Given the description of an element on the screen output the (x, y) to click on. 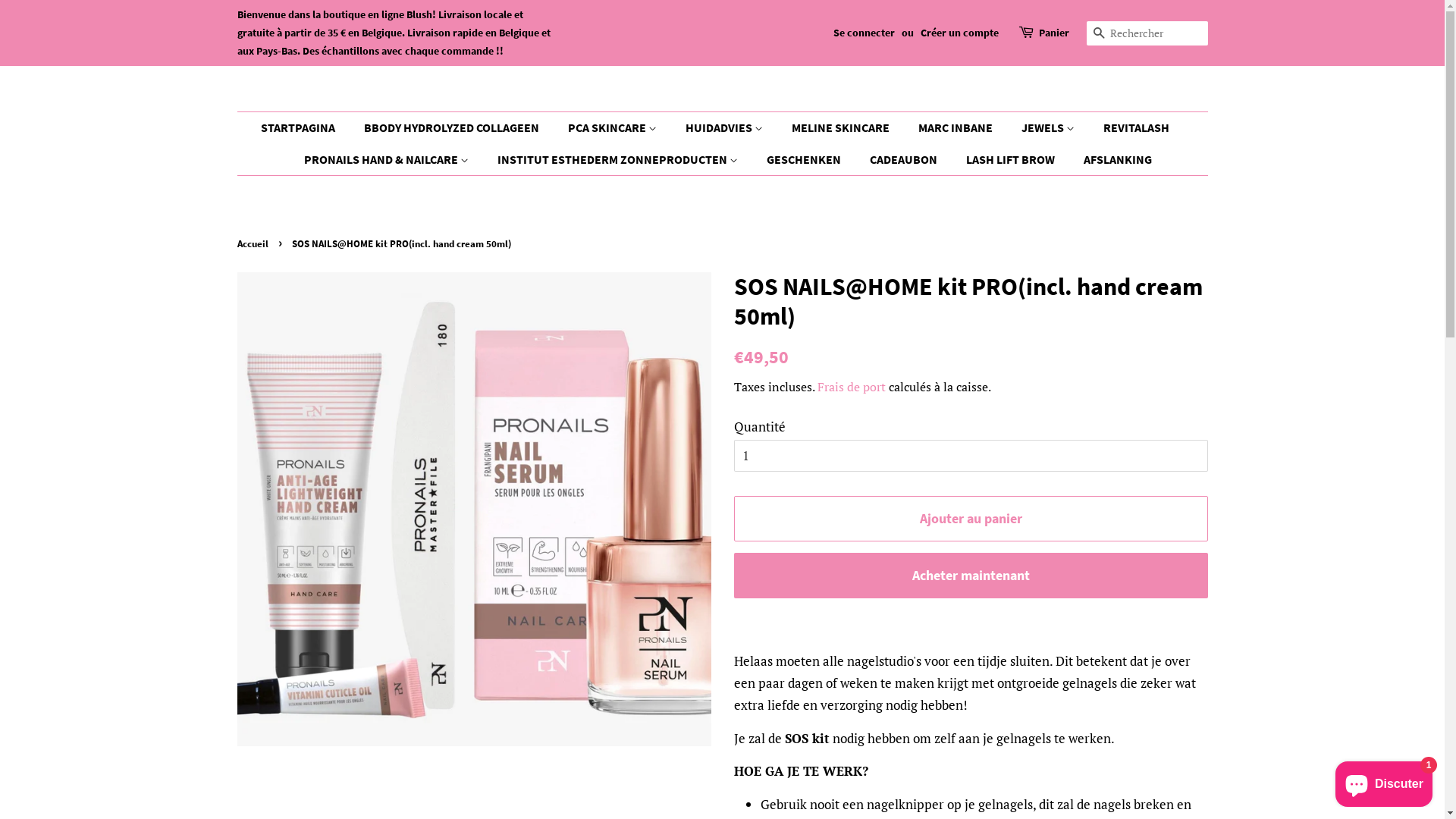
INSTITUT ESTHEDERM ZONNEPRODUCTEN Element type: text (619, 159)
PRONAILS HAND & NAILCARE Element type: text (387, 159)
PCA SKINCARE Element type: text (613, 127)
GESCHENKEN Element type: text (805, 159)
Recherche Element type: text (1097, 33)
STARTPAGINA Element type: text (305, 127)
LASH LIFT BROW Element type: text (1012, 159)
JEWELS Element type: text (1049, 127)
AFSLANKING Element type: text (1111, 159)
CADEAUBON Element type: text (905, 159)
MARC INBANE Element type: text (956, 127)
REVITALASH Element type: text (1138, 127)
Ajouter au panier Element type: text (971, 518)
Accueil Element type: text (253, 243)
HUIDADVIES Element type: text (725, 127)
Panier Element type: text (1053, 33)
Se connecter Element type: text (863, 32)
BBODY HYDROLYZED COLLAGEEN Element type: text (452, 127)
Frais de port Element type: text (851, 386)
Chat de la boutique en ligne Shopify Element type: hover (1383, 780)
Acheter maintenant Element type: text (971, 575)
MELINE SKINCARE Element type: text (841, 127)
